Given the description of an element on the screen output the (x, y) to click on. 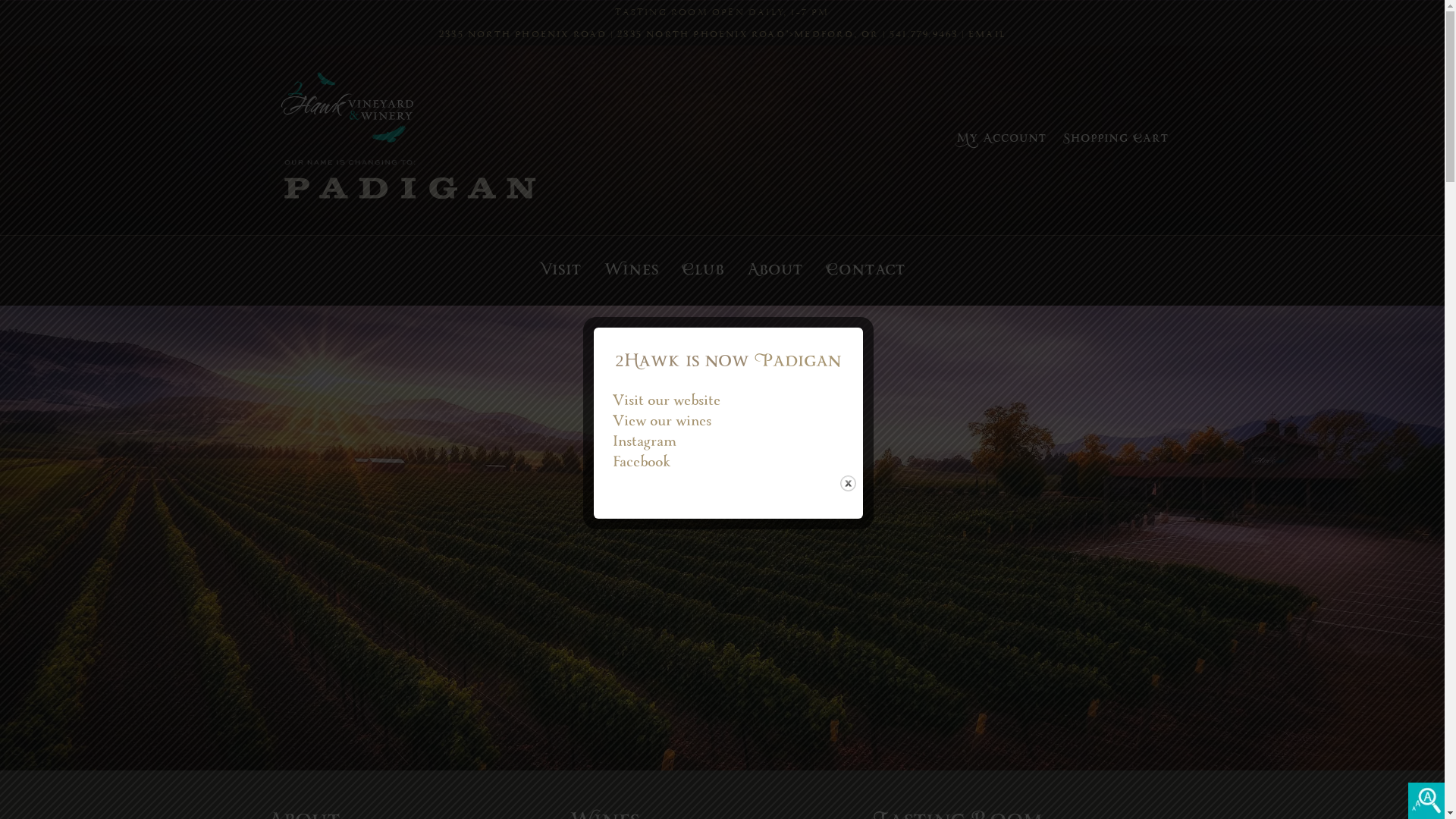
About Element type: text (774, 270)
Instagram Element type: text (644, 442)
2335 NORTH PHOENIX ROAD">MEDFORD, OR Element type: text (747, 35)
View our wines Element type: text (661, 421)
Club Element type: text (702, 270)
Visit our website Element type: text (666, 401)
Visit Element type: text (560, 270)
541.779.9463 Element type: text (923, 35)
Facebook Element type: text (641, 462)
Padigan Element type: text (796, 361)
Contact Element type: text (865, 270)
EMAIL Element type: text (986, 35)
My Account Element type: text (1001, 139)
2335 NORTH PHOENIX ROAD Element type: text (523, 35)
Wines Element type: text (631, 270)
Shopping Cart Element type: text (1115, 139)
Close Element type: hover (848, 482)
2Hawk is Now Padigan Element type: hover (456, 140)
